Given the description of an element on the screen output the (x, y) to click on. 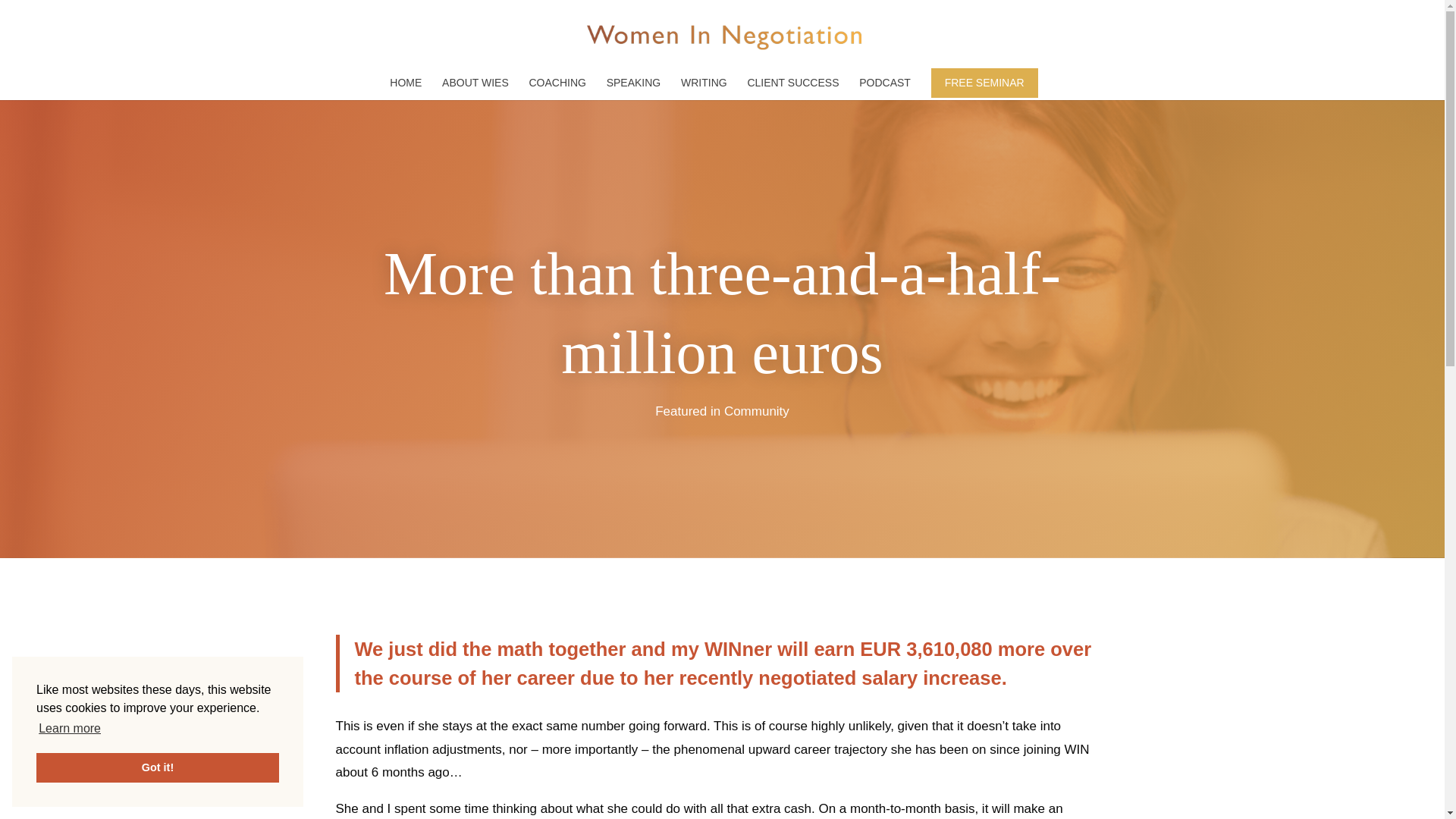
CLIENT SUCCESS (792, 87)
SPEAKING (634, 87)
Learn more (69, 728)
WRITING (703, 87)
PODCAST (885, 87)
COACHING (556, 87)
Got it! (157, 767)
HOME (406, 87)
ABOUT WIES (475, 87)
FREE SEMINAR (984, 82)
